Given the description of an element on the screen output the (x, y) to click on. 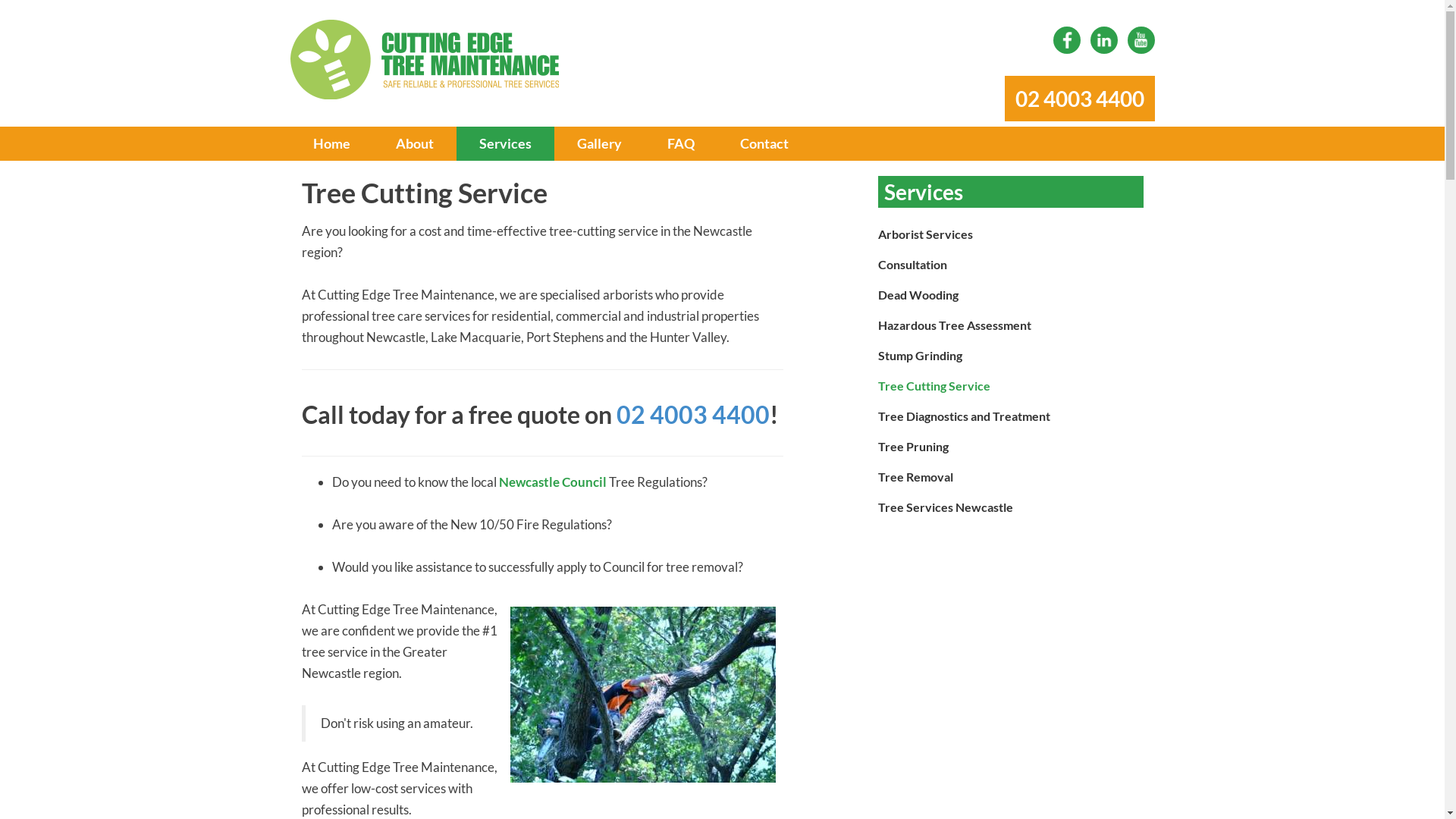
Facebook Element type: text (1065, 39)
About Element type: text (414, 143)
FAQ Element type: text (680, 143)
Tree Removal Element type: text (1010, 476)
Home Element type: text (330, 143)
Linkedin Element type: text (1103, 39)
Services Element type: text (505, 143)
Newcastle Council Element type: text (553, 481)
Gallery Element type: text (598, 143)
02 4003 4400 Element type: text (691, 414)
Dead Wooding Element type: text (1010, 294)
Contact Element type: text (764, 143)
Stump Grinding Element type: text (1010, 355)
Cutting Edge Tree Maintenance Element type: text (442, 60)
02 4003 4400 Element type: text (1079, 90)
Tree Diagnostics and Treatment Element type: text (1010, 416)
Tree Cutting Service Element type: text (1010, 385)
YouTube Element type: text (1140, 39)
Tree Services Newcastle Element type: text (1010, 507)
Tree Pruning Element type: text (1010, 446)
Arborist Services Element type: text (1010, 234)
Consultation Element type: text (1010, 264)
Hazardous Tree Assessment Element type: text (1010, 325)
